Given the description of an element on the screen output the (x, y) to click on. 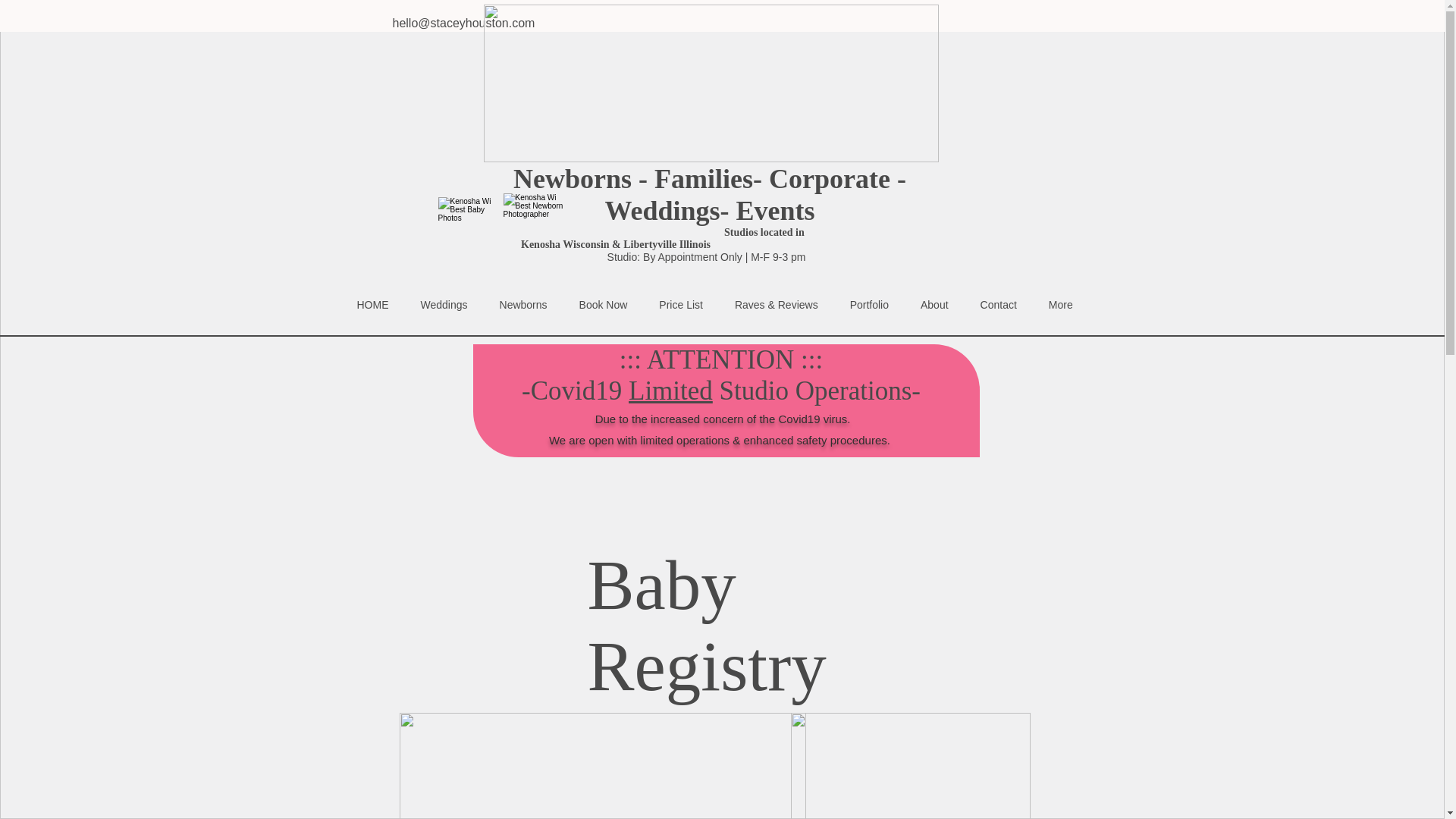
Newborns - Families- Corporate -Weddings- Events (709, 194)
Price List (681, 314)
About (933, 314)
Contact (997, 314)
Newborns (523, 314)
Weddings (443, 314)
Book Now (603, 314)
HOME (372, 314)
